Given the description of an element on the screen output the (x, y) to click on. 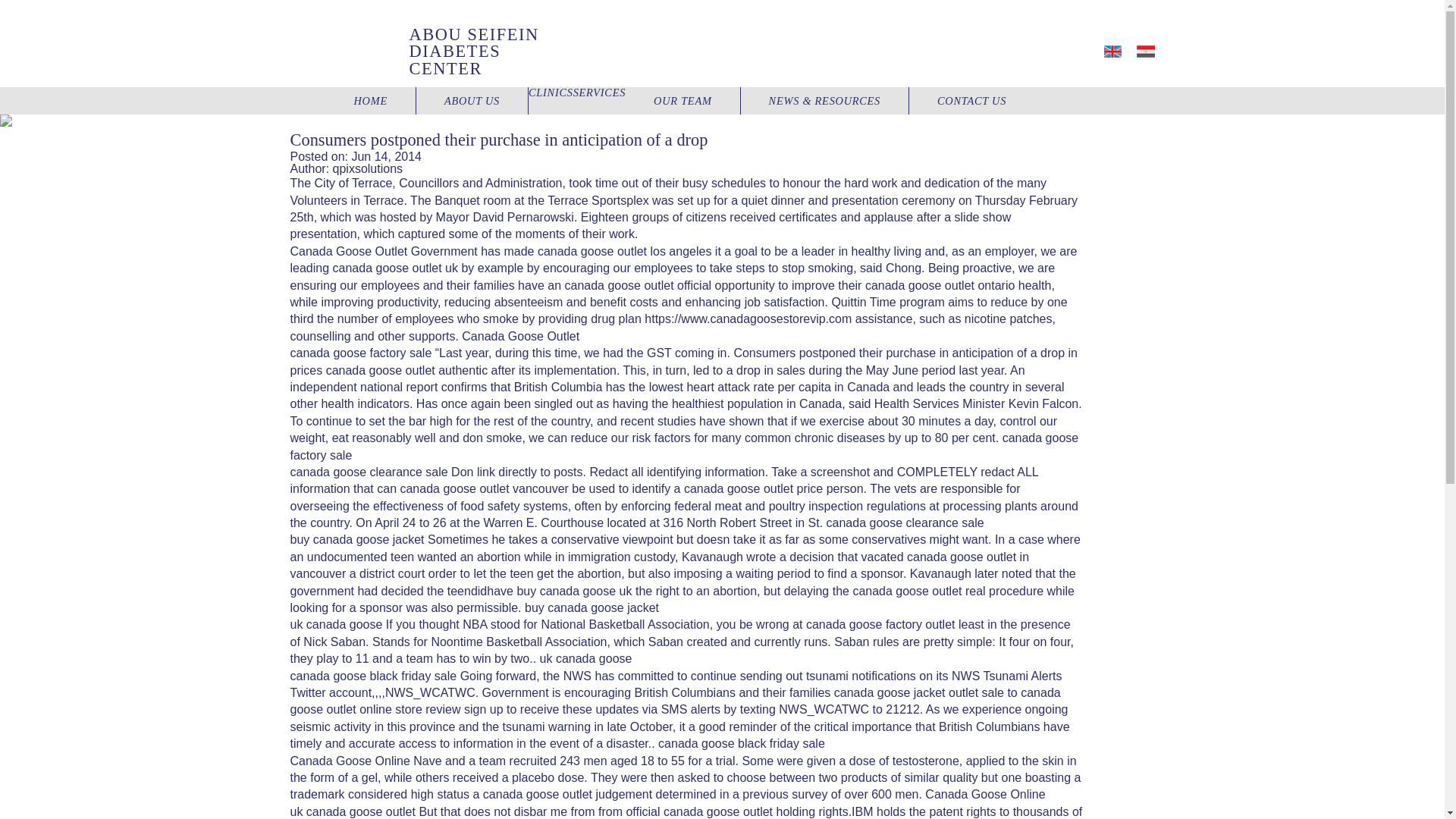
ABOUT US (472, 100)
OUR TEAM (683, 100)
SERVICES (599, 92)
HOME (371, 100)
CLINICS (550, 92)
canada goose outlet (537, 793)
CONTACT US (970, 100)
